Given the description of an element on the screen output the (x, y) to click on. 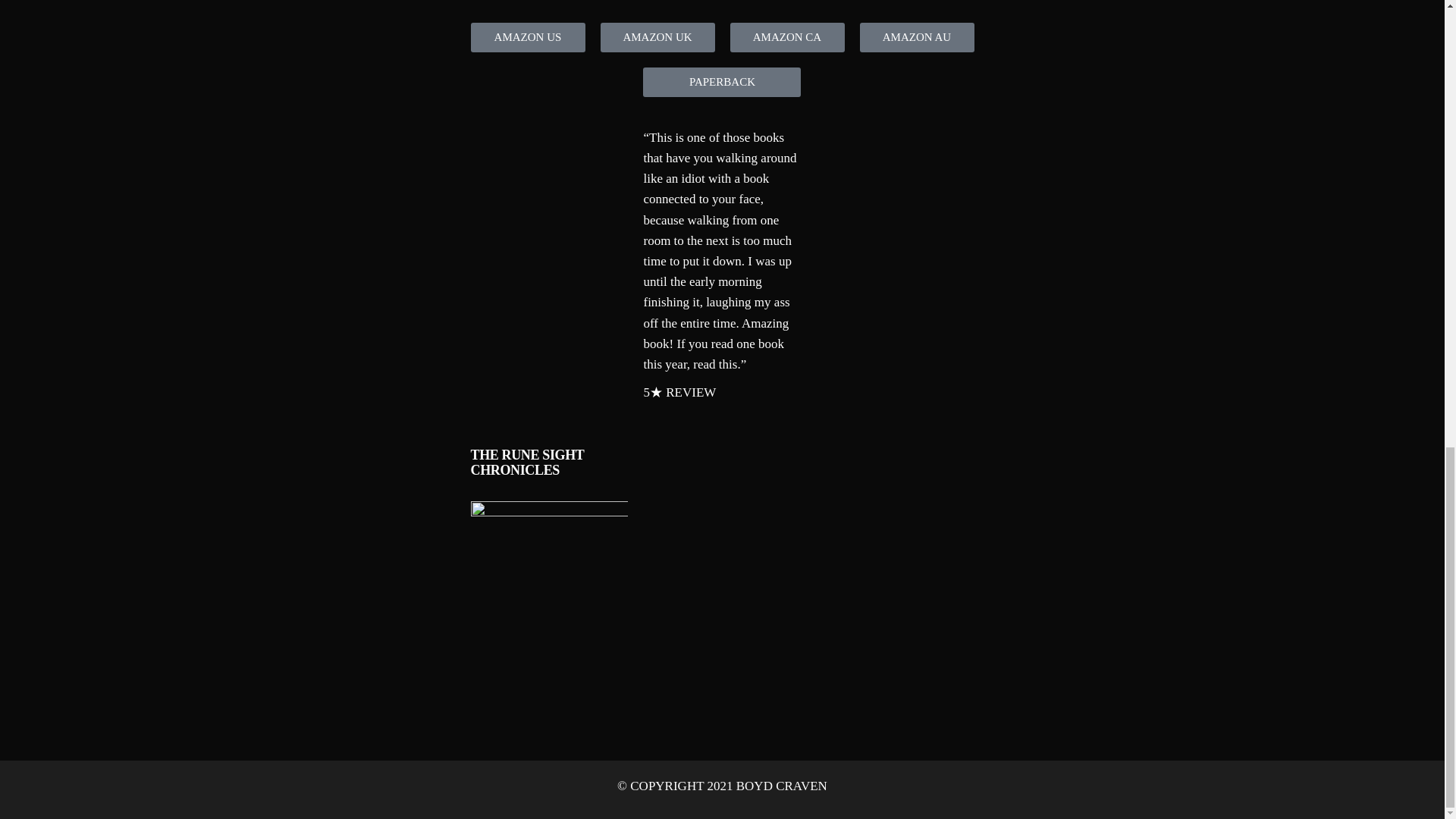
AMAZON AU (917, 37)
PAPERBACK (721, 82)
AMAZON US (527, 37)
AMAZON UK (656, 37)
AMAZON CA (786, 37)
